Given the description of an element on the screen output the (x, y) to click on. 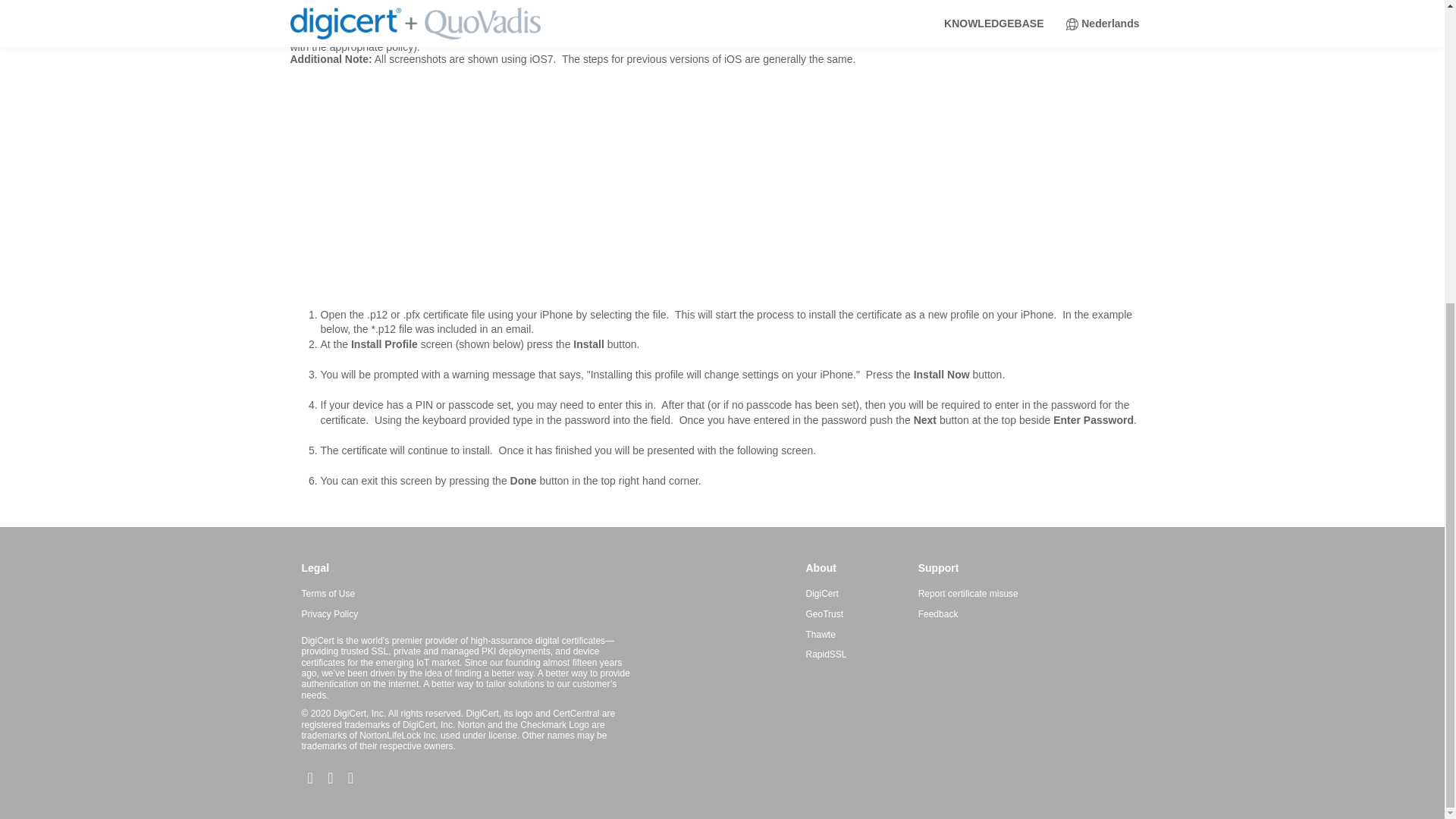
Thawte (819, 634)
DigiCert (821, 593)
Terms of Use (328, 593)
GeoTrust (824, 614)
Privacy Policy (329, 614)
Feedback (938, 614)
RapidSSL (825, 654)
Report certificate misuse (967, 593)
